Given the description of an element on the screen output the (x, y) to click on. 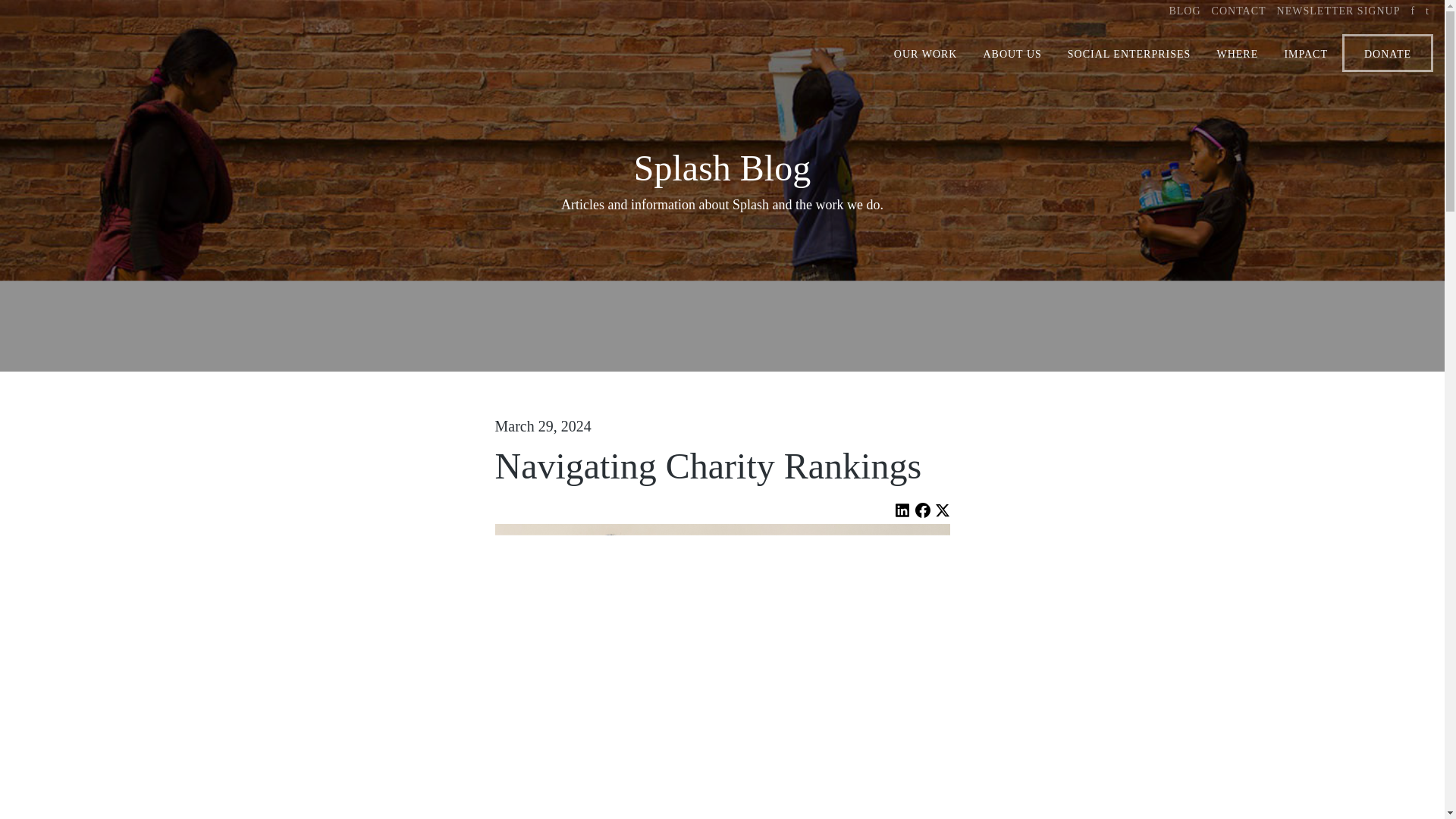
Social Enterprises (1129, 54)
OUR WORK (925, 54)
CONTACT (1238, 11)
Our Work (925, 54)
t (1427, 11)
NEWSLETTER SIGNUP (1338, 11)
ABOUT US (1011, 54)
IMPACT (1305, 54)
DONATE (1387, 53)
BLOG (1184, 11)
f (1412, 11)
WHERE (1236, 54)
SOCIAL ENTERPRISES (1129, 54)
Where (1236, 54)
About Us (1011, 54)
